Given the description of an element on the screen output the (x, y) to click on. 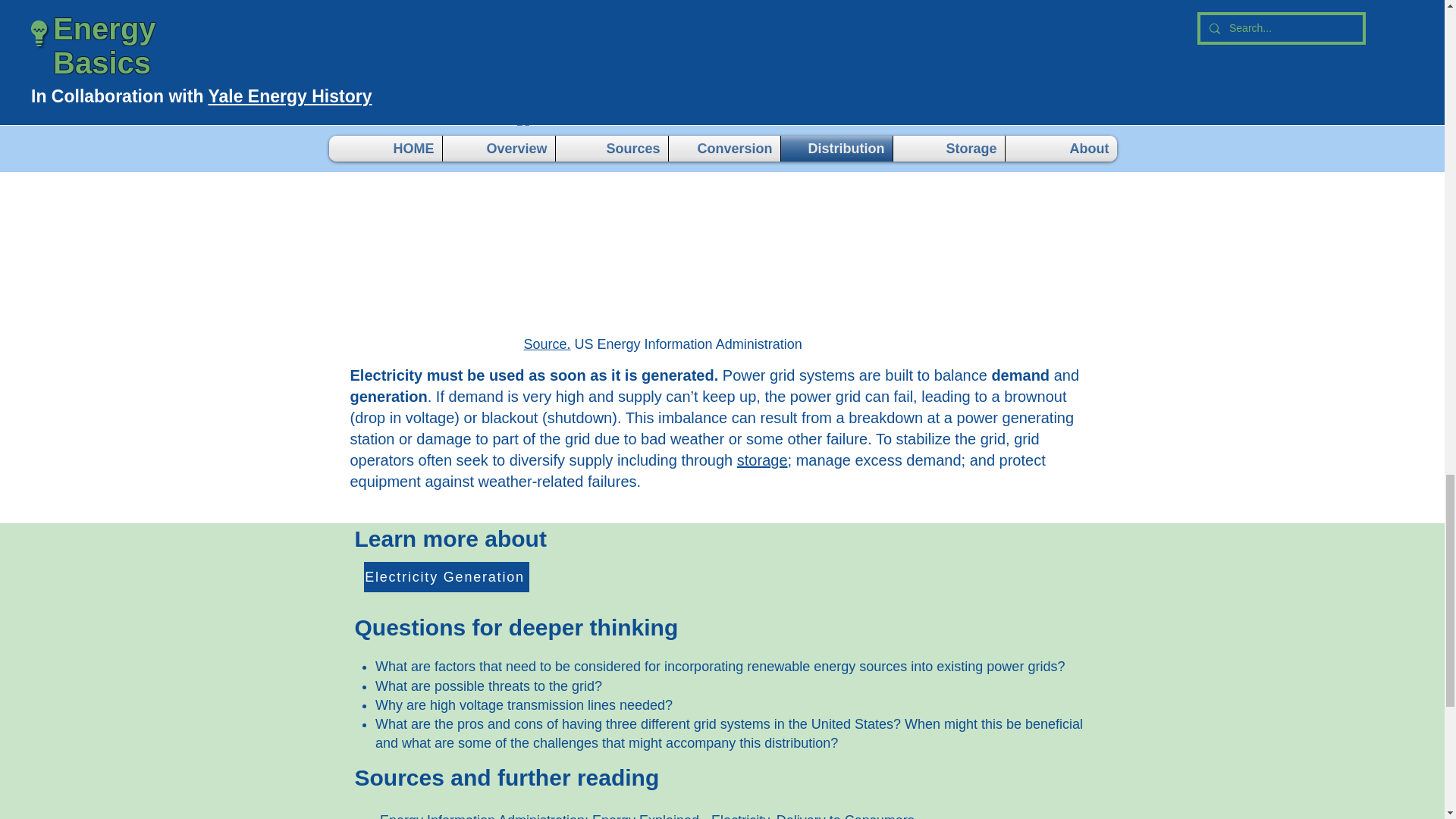
storage (761, 460)
Energy Explained - Electricity, Delivery to Consumers (753, 816)
Source. US Energy Information Administration (662, 344)
Electricity Generation (446, 576)
